Given the description of an element on the screen output the (x, y) to click on. 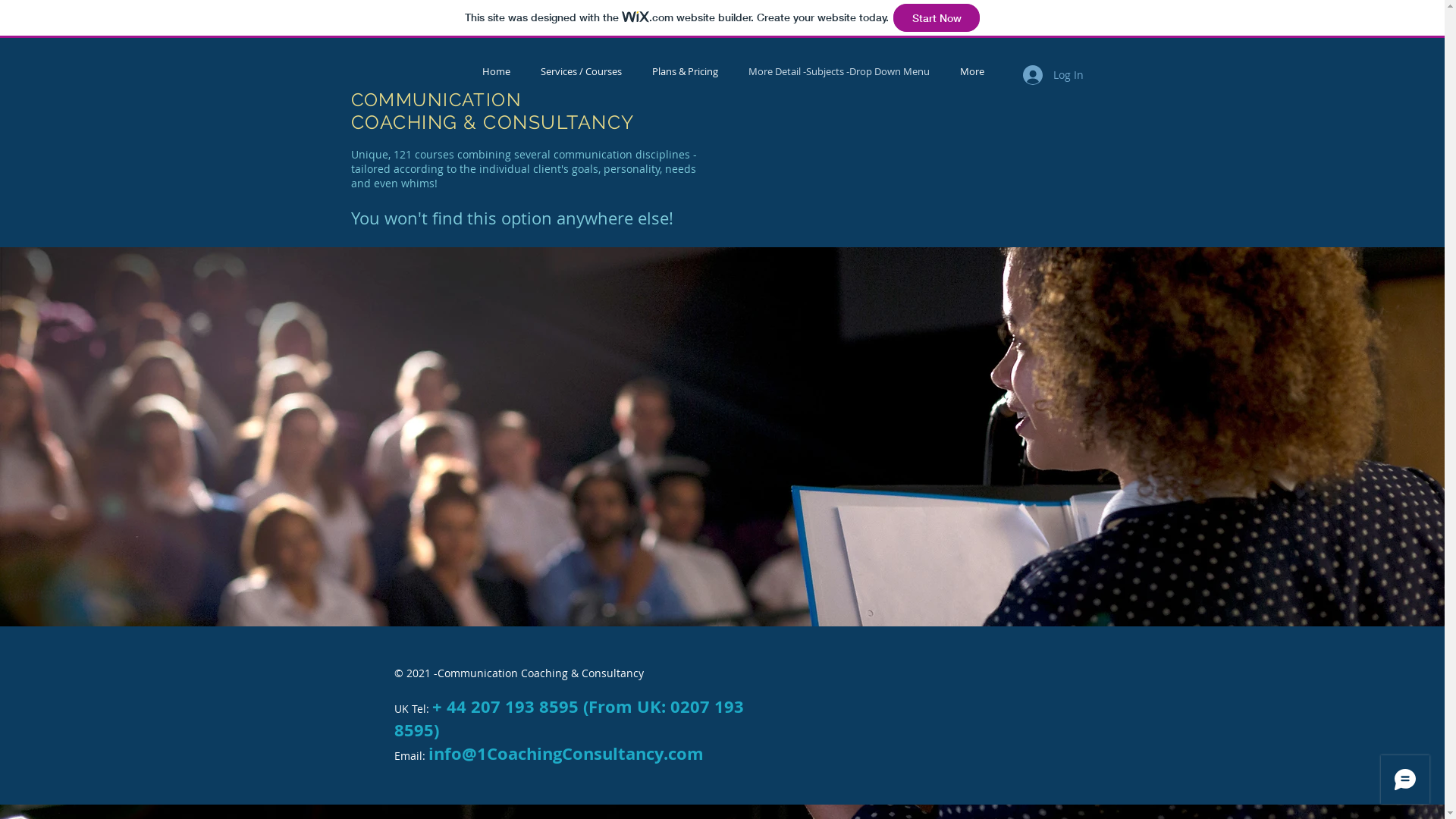
info@1CoachingConsultancy.com Element type: text (564, 753)
Home Element type: text (496, 70)
More Detail -Subjects -Drop Down Menu Element type: text (838, 70)
Log In Element type: text (1052, 74)
  Element type: text (524, 98)
COMMUNICATION Element type: text (435, 99)
TWIPLA (Visitor Analytics) Element type: hover (1442, 42)
Plans & Pricing Element type: text (685, 70)
COACHING & CONSULTANCY Element type: text (491, 121)
Services / Courses Element type: text (580, 70)
